Given the description of an element on the screen output the (x, y) to click on. 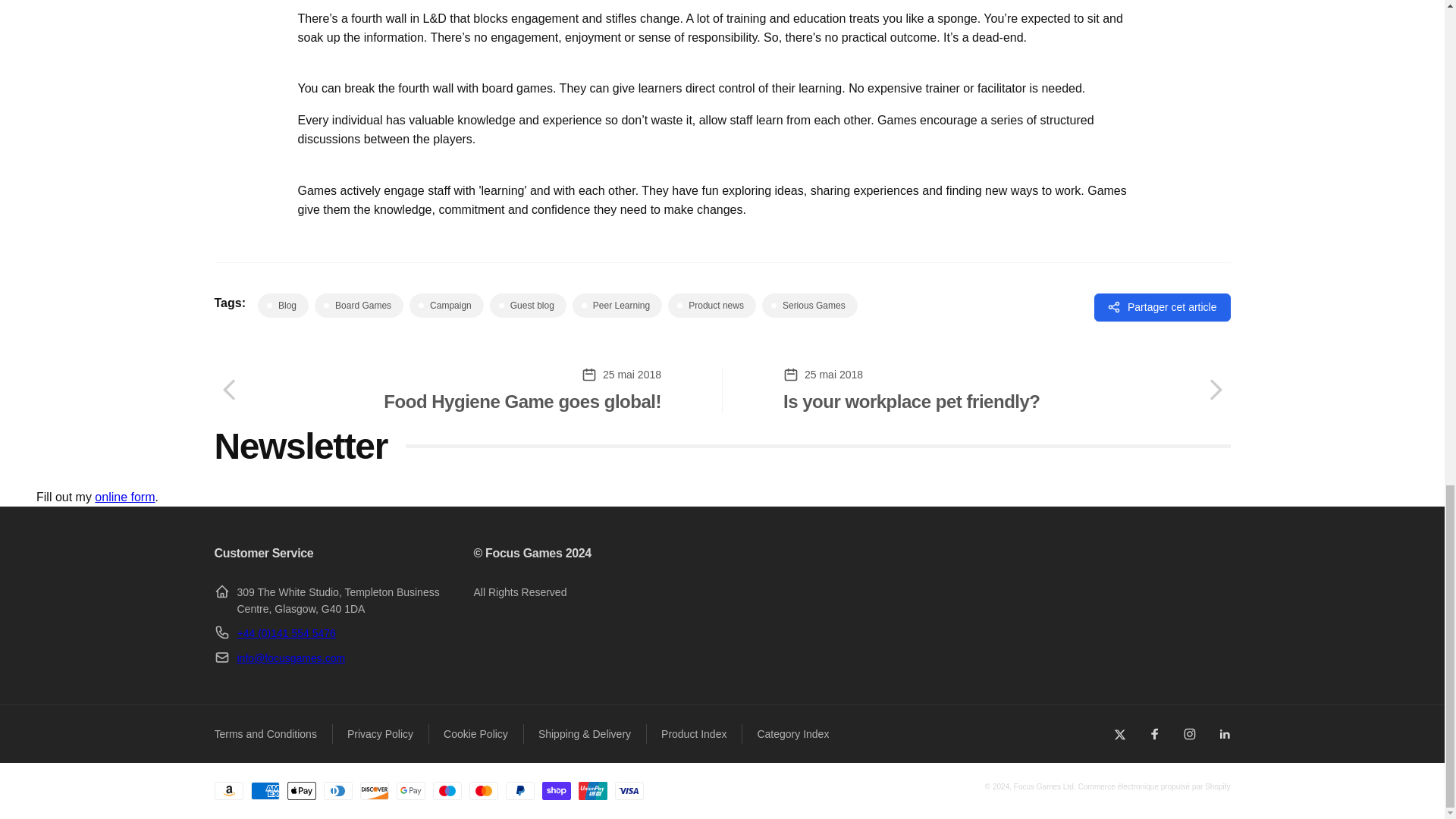
tel:441415545476 (284, 633)
Is your workplace pet friendly? (1006, 389)
Food Hygiene Game goes global! (437, 389)
